Given the description of an element on the screen output the (x, y) to click on. 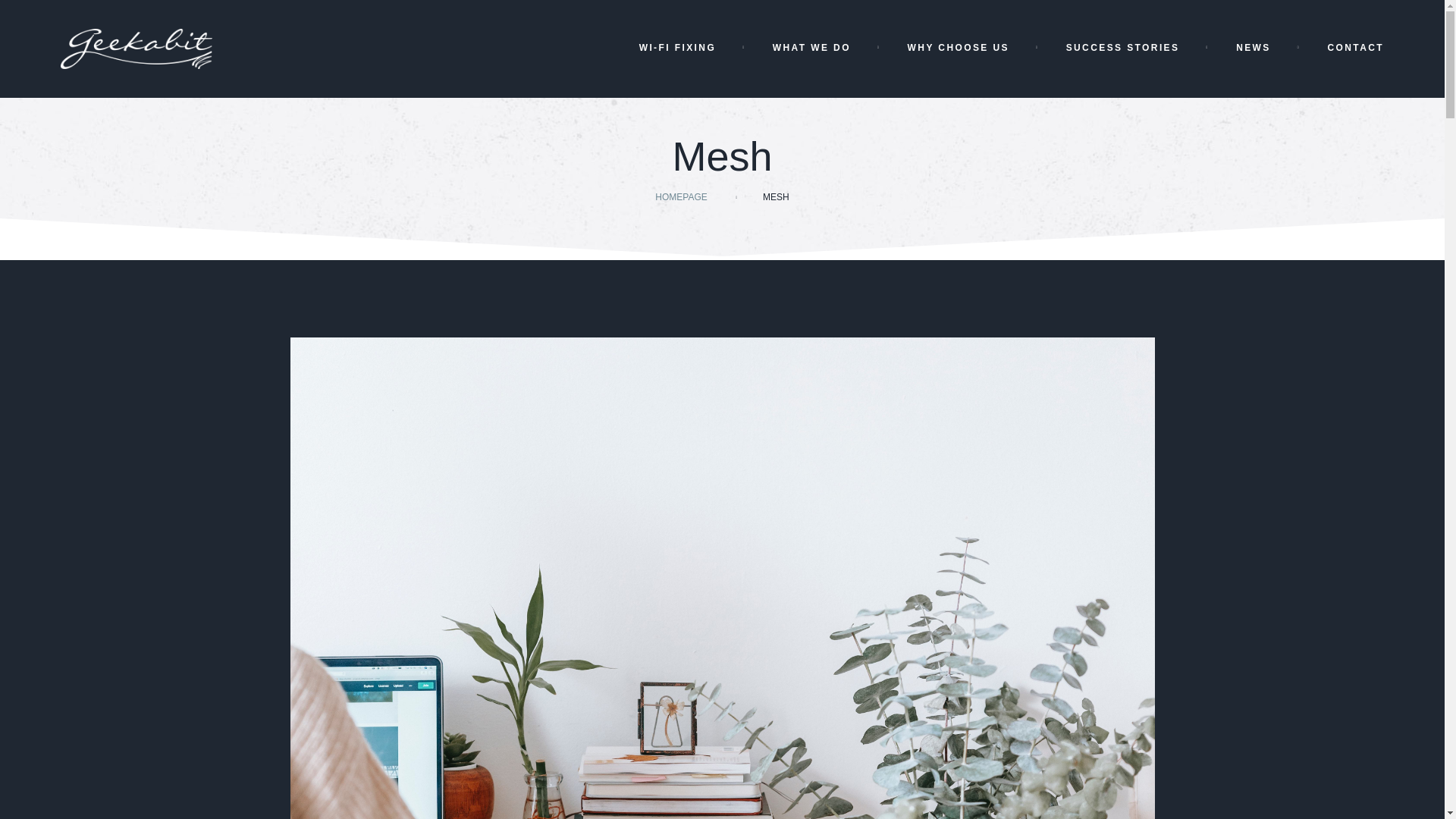
WHY CHOOSE US (960, 48)
HOMEPAGE (680, 196)
WHAT WE DO (813, 48)
WI-FI FIXING (679, 48)
SUCCESS STORIES (1123, 48)
CONTACT (1355, 47)
NEWS (1255, 48)
